Given the description of an element on the screen output the (x, y) to click on. 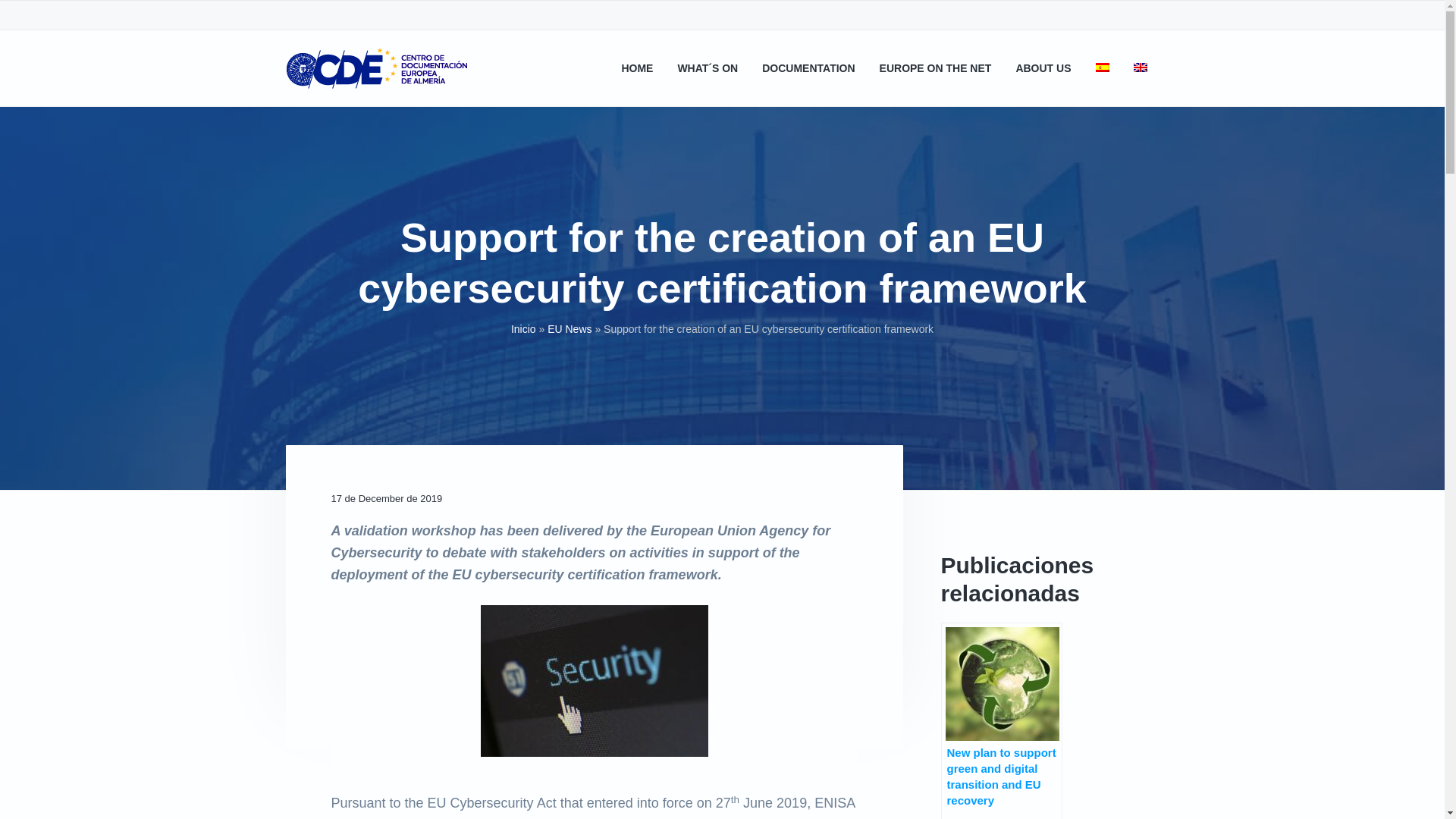
ABOUT US (1042, 67)
EUROPE ON THE NET (935, 67)
DOCUMENTATION (807, 67)
HOME (636, 67)
